Given the description of an element on the screen output the (x, y) to click on. 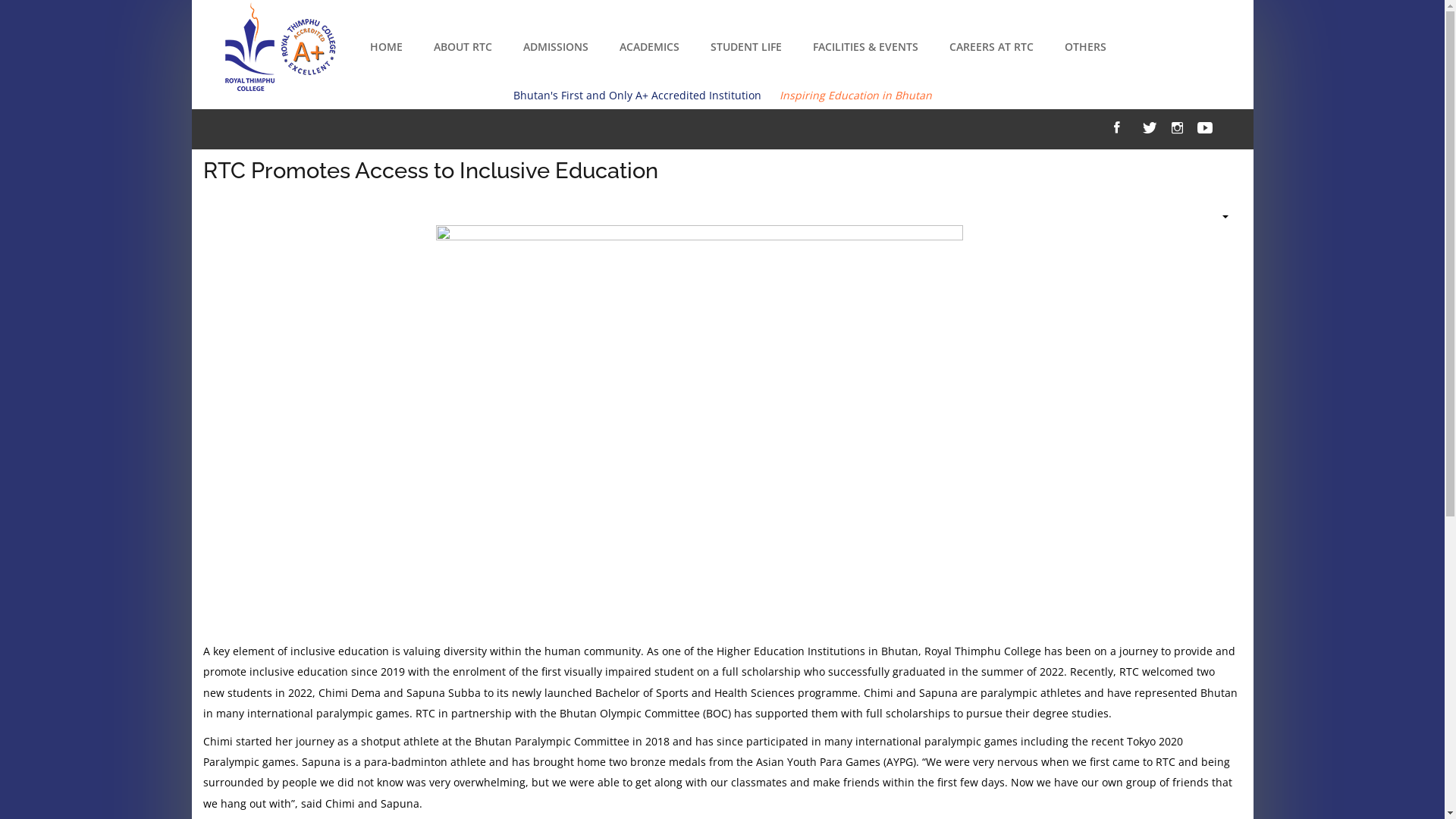
FACILITIES & EVENTS Element type: text (865, 46)
CAREERS AT RTC Element type: text (991, 46)
FACILITIES & EVENTS Element type: text (865, 46)
CAREERS AT RTC Element type: text (991, 46)
HOME Element type: text (386, 46)
OTHERS Element type: text (1085, 46)
STUDENT LIFE Element type: text (745, 46)
ADMISSIONS Element type: text (555, 46)
ABOUT RTC Element type: text (462, 46)
HOME Element type: text (386, 46)
OTHERS Element type: text (1085, 46)
ACADEMICS Element type: text (648, 46)
ADMISSIONS Element type: text (555, 46)
ACADEMICS Element type: text (648, 46)
ABOUT RTC Element type: text (462, 46)
STUDENT LIFE Element type: text (745, 46)
